Given the description of an element on the screen output the (x, y) to click on. 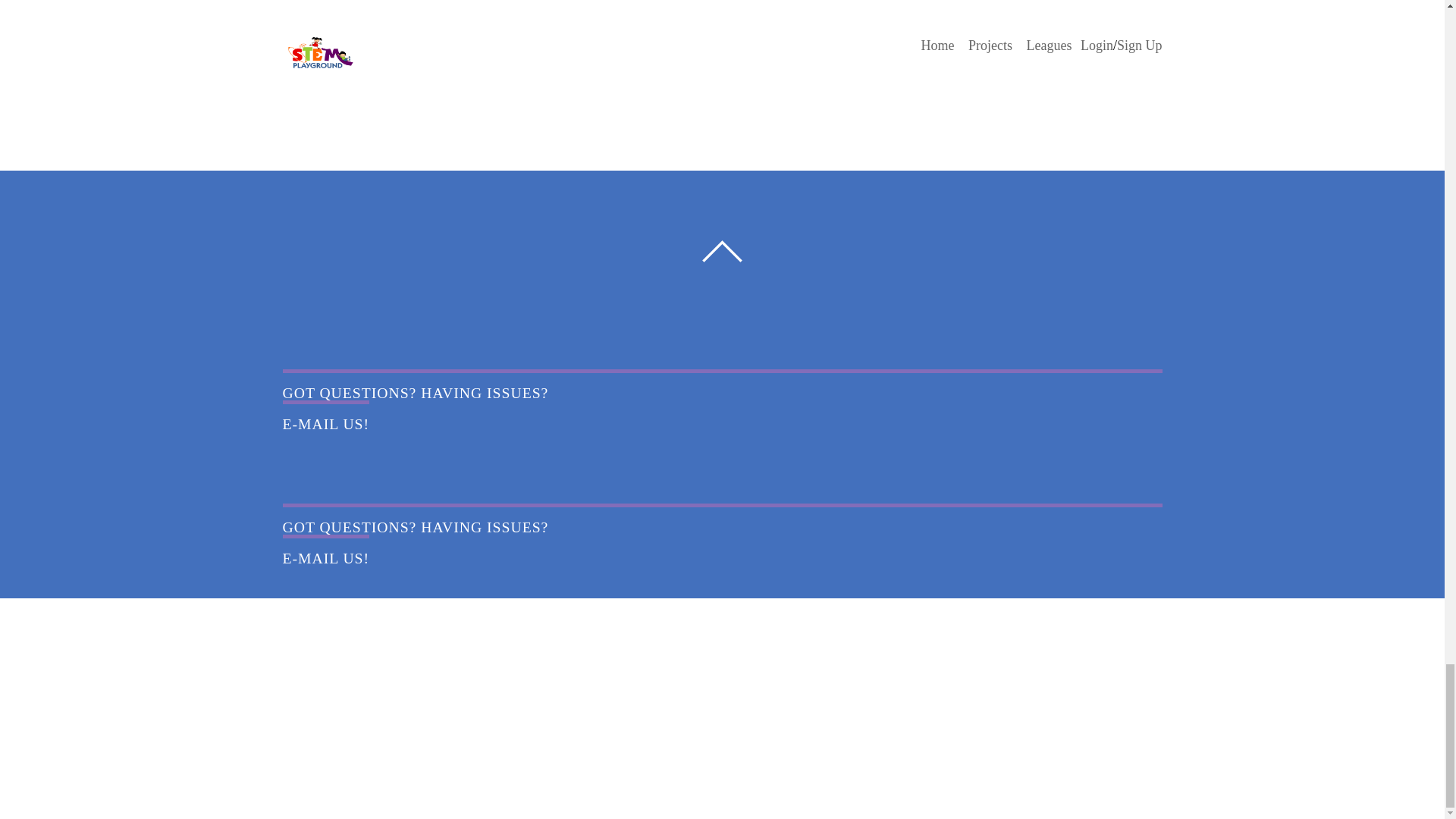
Post Comment (352, 46)
GOT QUESTIONS? HAVING ISSUES? (415, 526)
Post Comment (352, 46)
E-MAIL US! (325, 416)
